Given the description of an element on the screen output the (x, y) to click on. 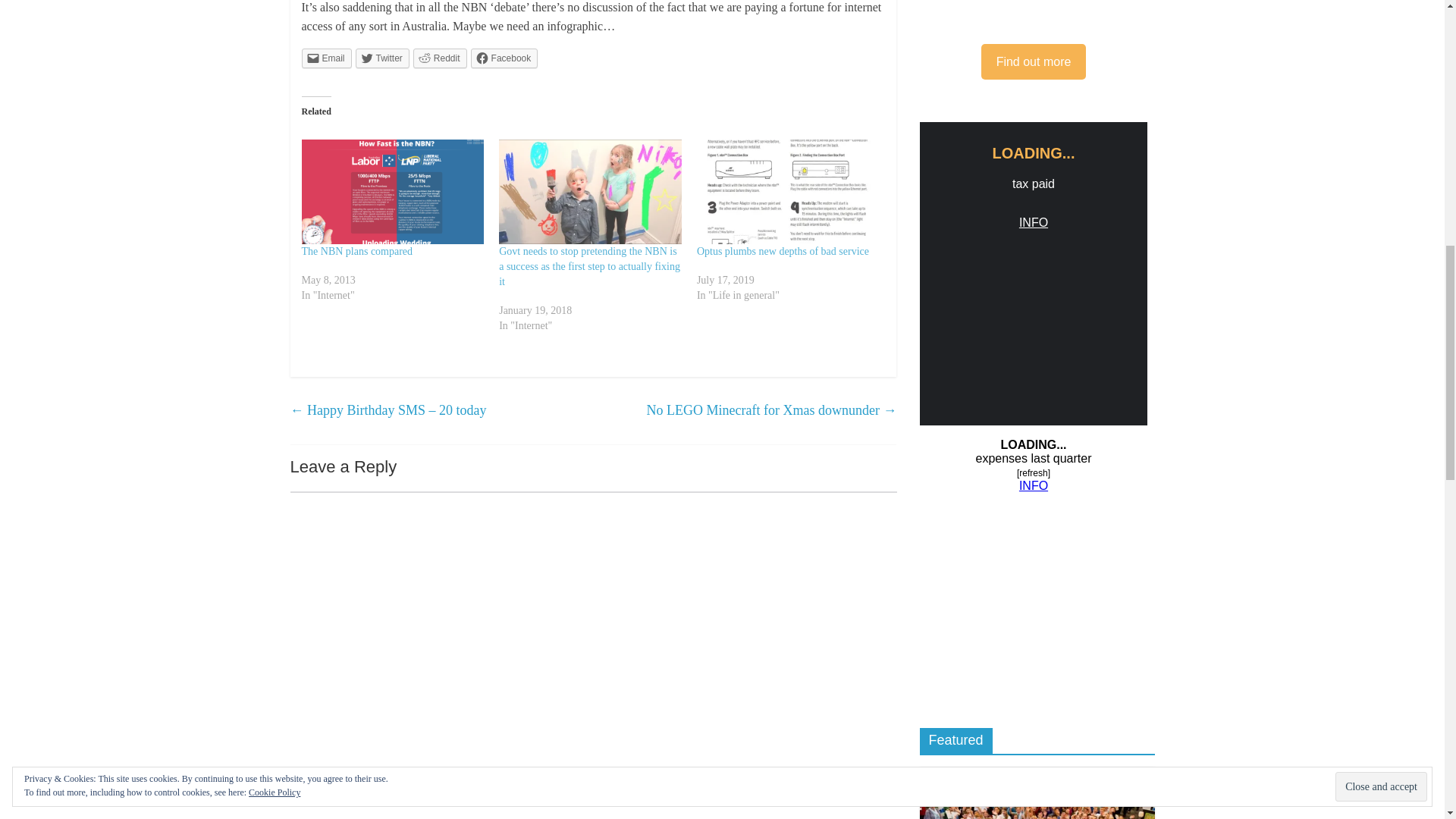
Optus plumbs new depths of bad service (783, 251)
The NBN plans compared (357, 251)
Click to share on Facebook (504, 57)
Optus plumbs new depths of bad service (788, 191)
Reddit (440, 57)
The NBN plans compared (392, 191)
Twitter (382, 57)
Click to share on Twitter (382, 57)
